Given the description of an element on the screen output the (x, y) to click on. 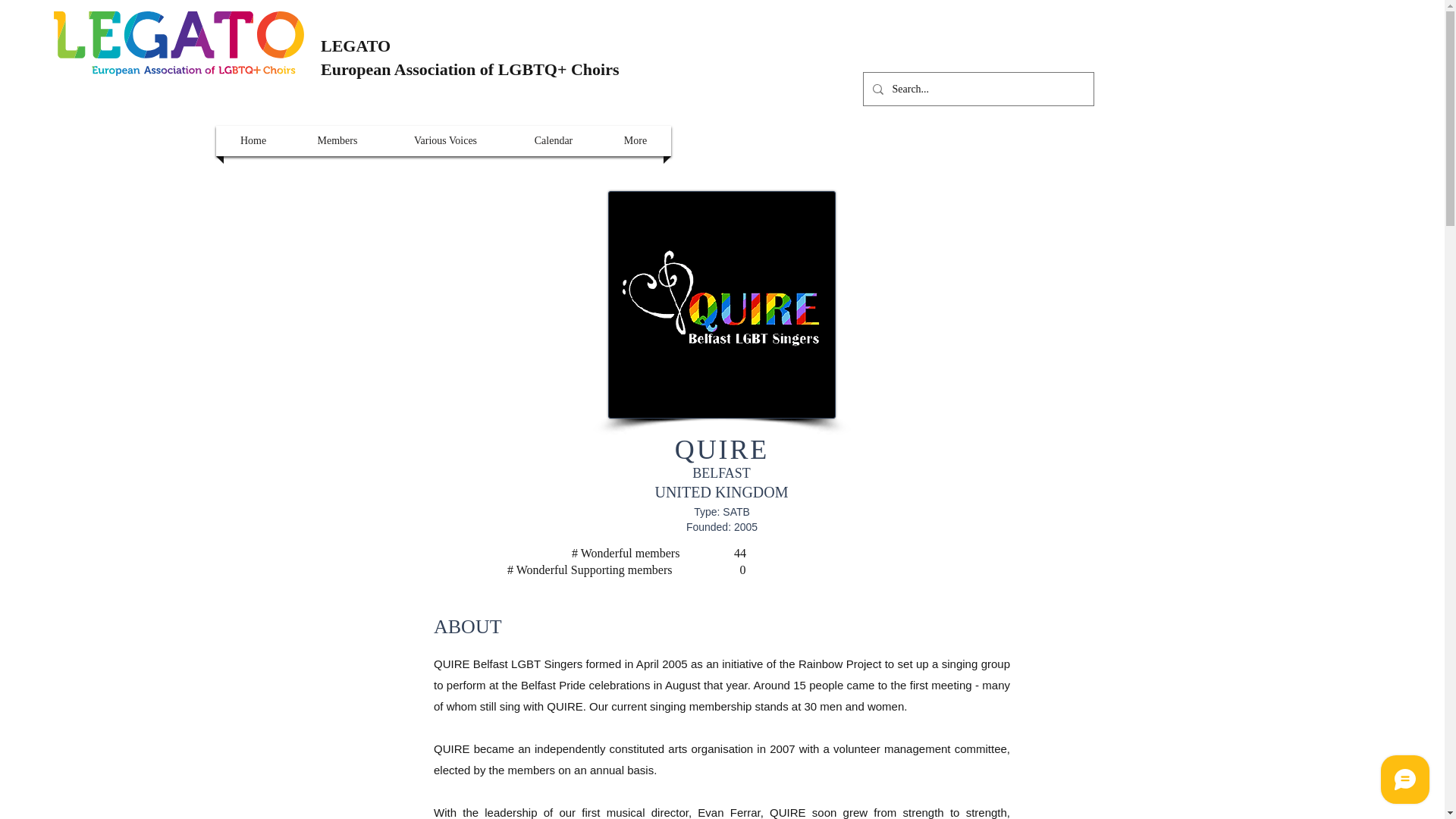
Home (252, 141)
Choirs (595, 68)
LEGATO (355, 45)
Quire Belfast LGBT Singers.fw.png (721, 304)
Members (337, 141)
Various Voices (445, 141)
Calendar (553, 141)
